Given the description of an element on the screen output the (x, y) to click on. 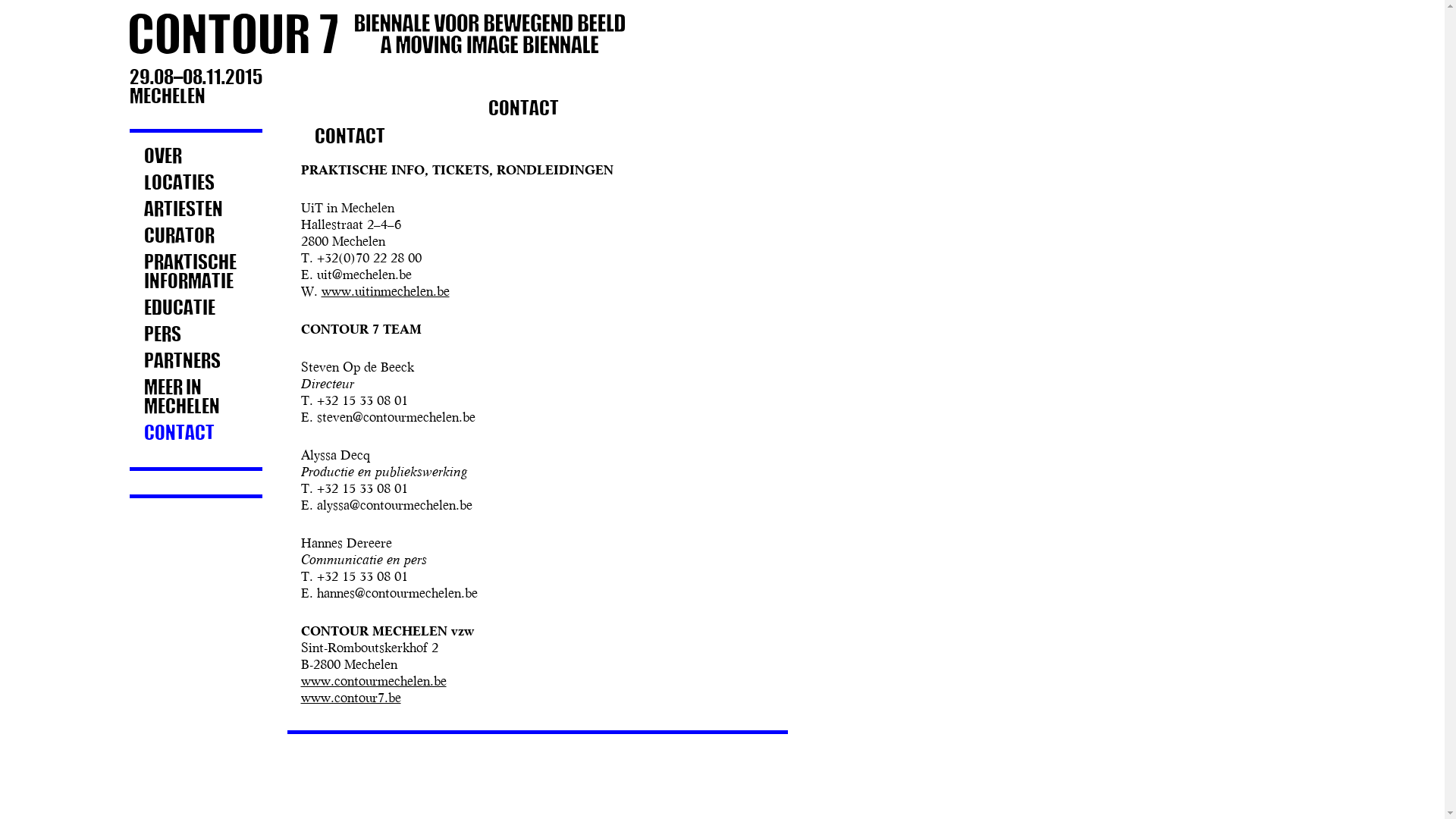
PARTNERS Element type: text (195, 360)
LOCATIES Element type: text (195, 182)
PERS Element type: text (195, 334)
www.contour7.be Element type: text (350, 698)
EDUCATIE Element type: text (195, 307)
MEER IN MECHELEN Element type: text (195, 397)
CURATOR Element type: text (195, 235)
PRAKTISCHE INFORMATIE Element type: text (195, 272)
www.uitinmechelen.be Element type: text (385, 291)
OVER Element type: text (195, 156)
ARTIESTEN Element type: text (195, 209)
www.contourmechelen.be Element type: text (372, 681)
CONTACT Element type: text (195, 432)
